Given the description of an element on the screen output the (x, y) to click on. 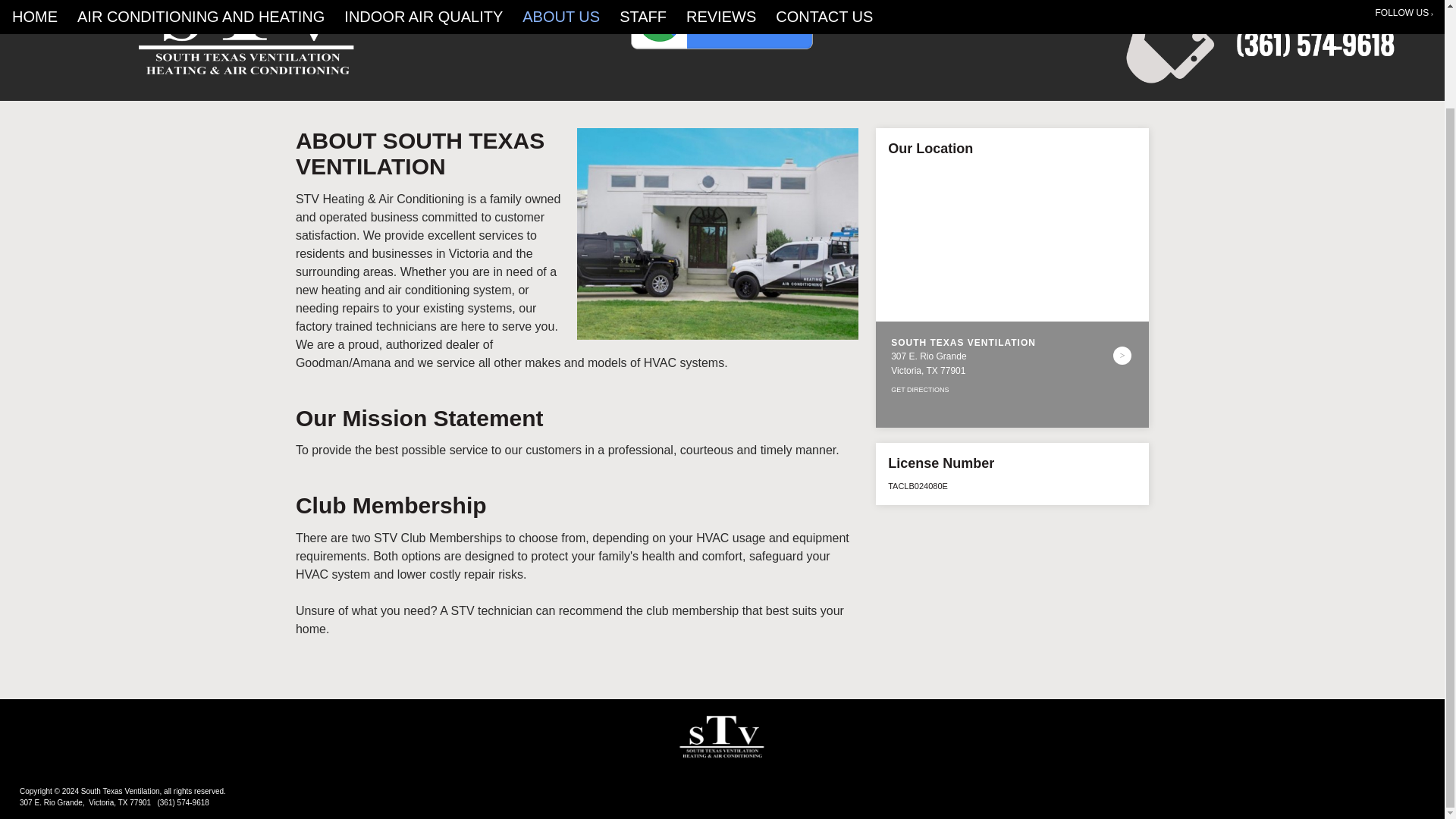
See Details (1122, 355)
GET DIRECTIONS (920, 389)
